Given the description of an element on the screen output the (x, y) to click on. 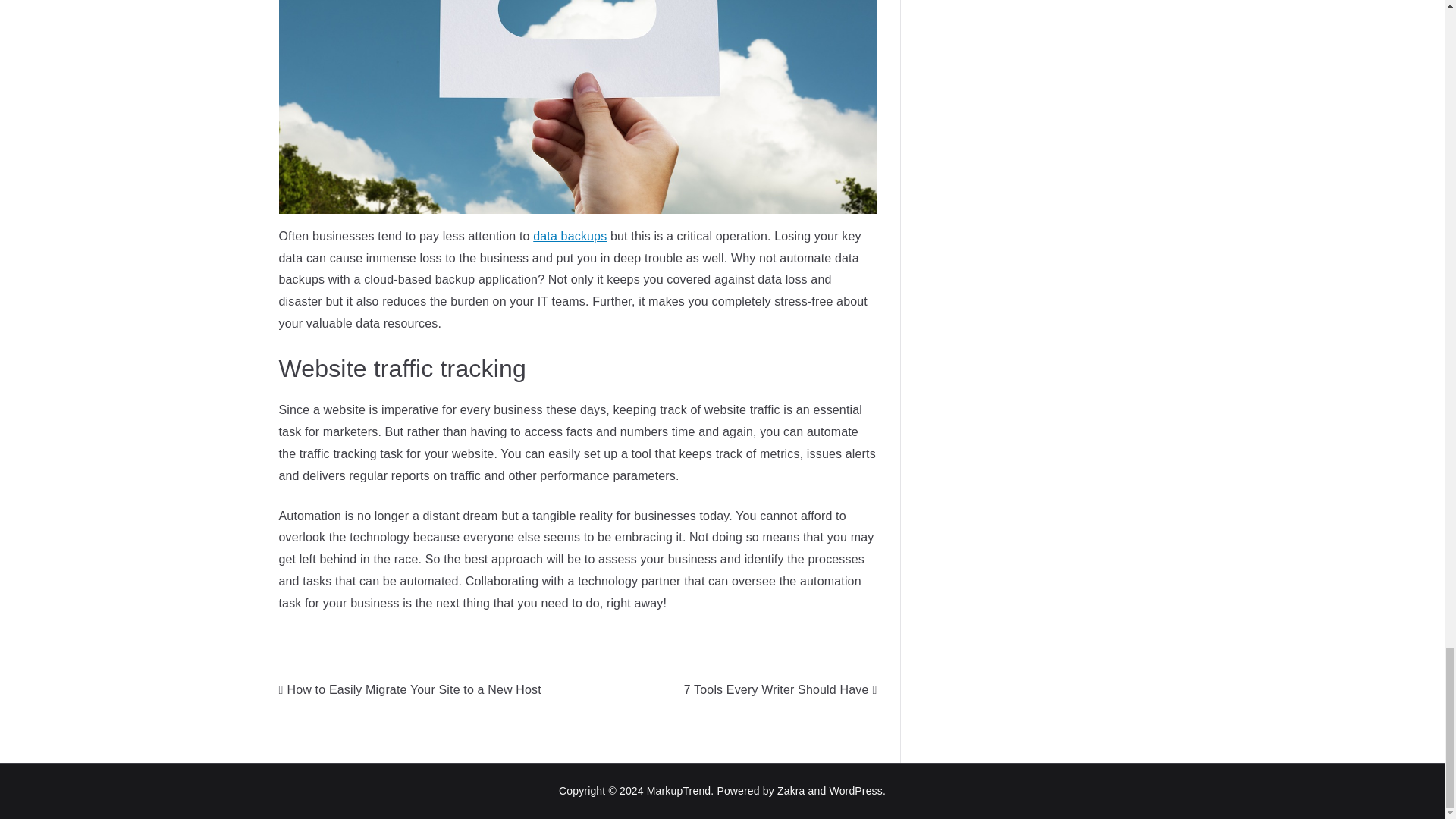
MarkupTrend (678, 790)
Zakra (791, 790)
WordPress (855, 790)
